Given the description of an element on the screen output the (x, y) to click on. 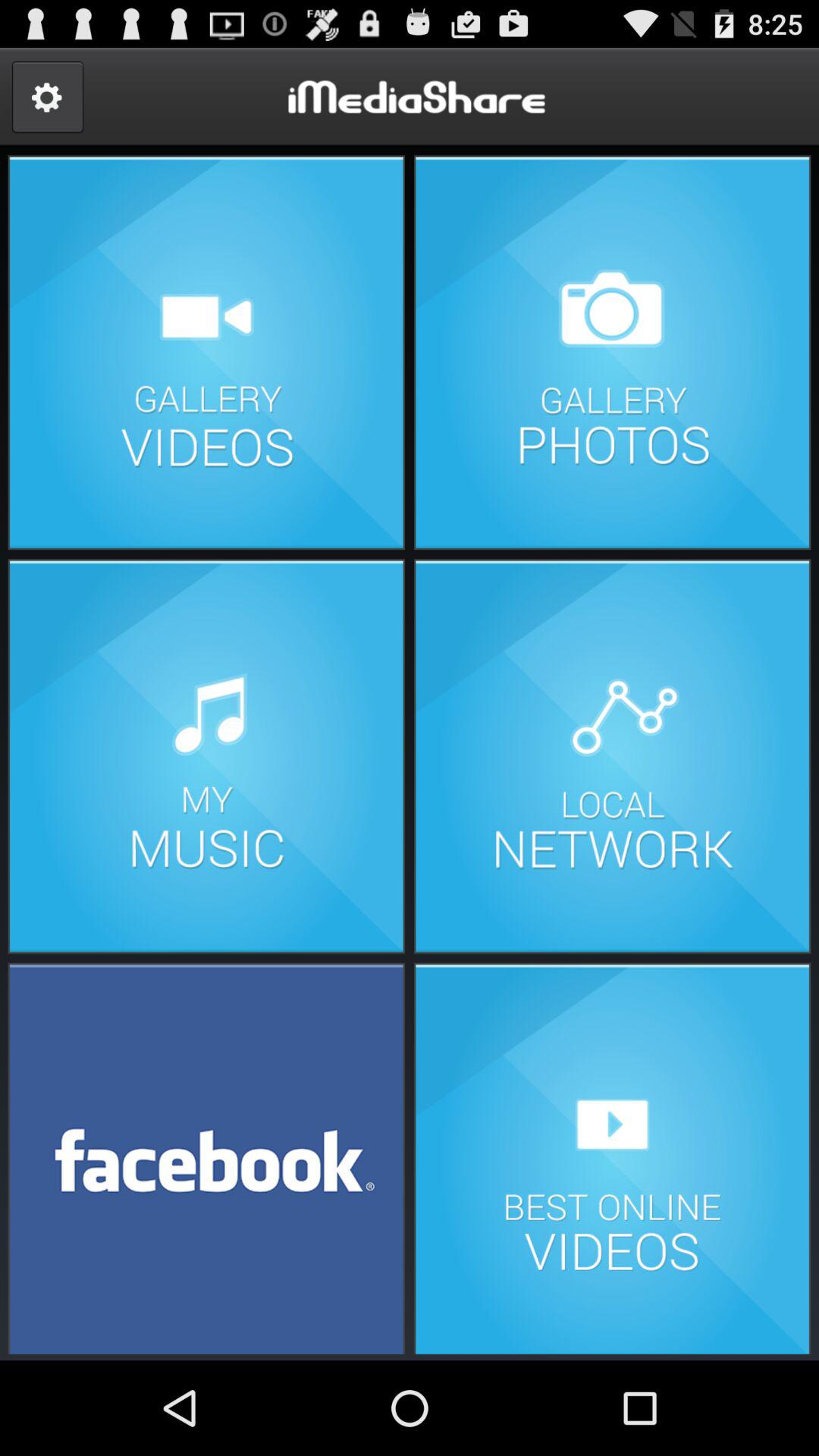
view gallery videos (206, 352)
